Given the description of an element on the screen output the (x, y) to click on. 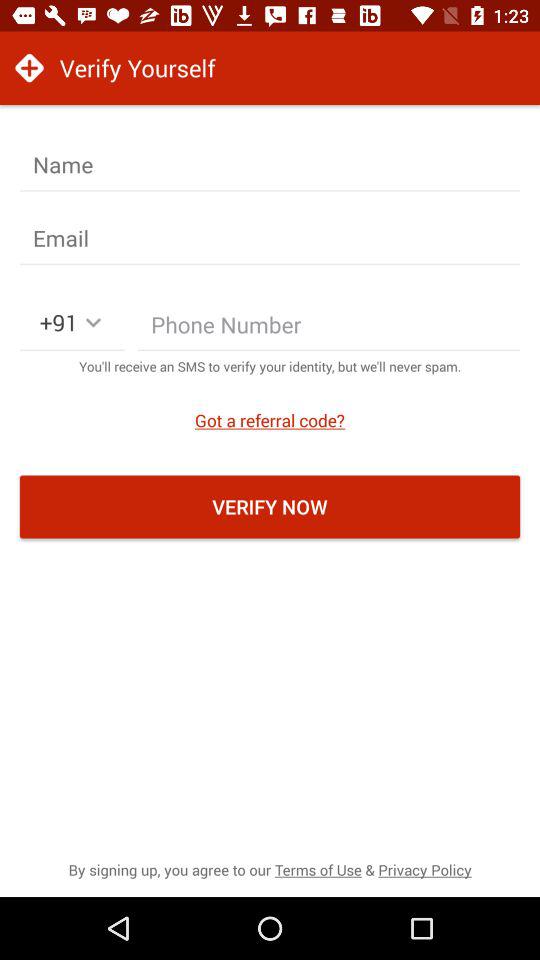
open item below the verify now item (270, 869)
